Given the description of an element on the screen output the (x, y) to click on. 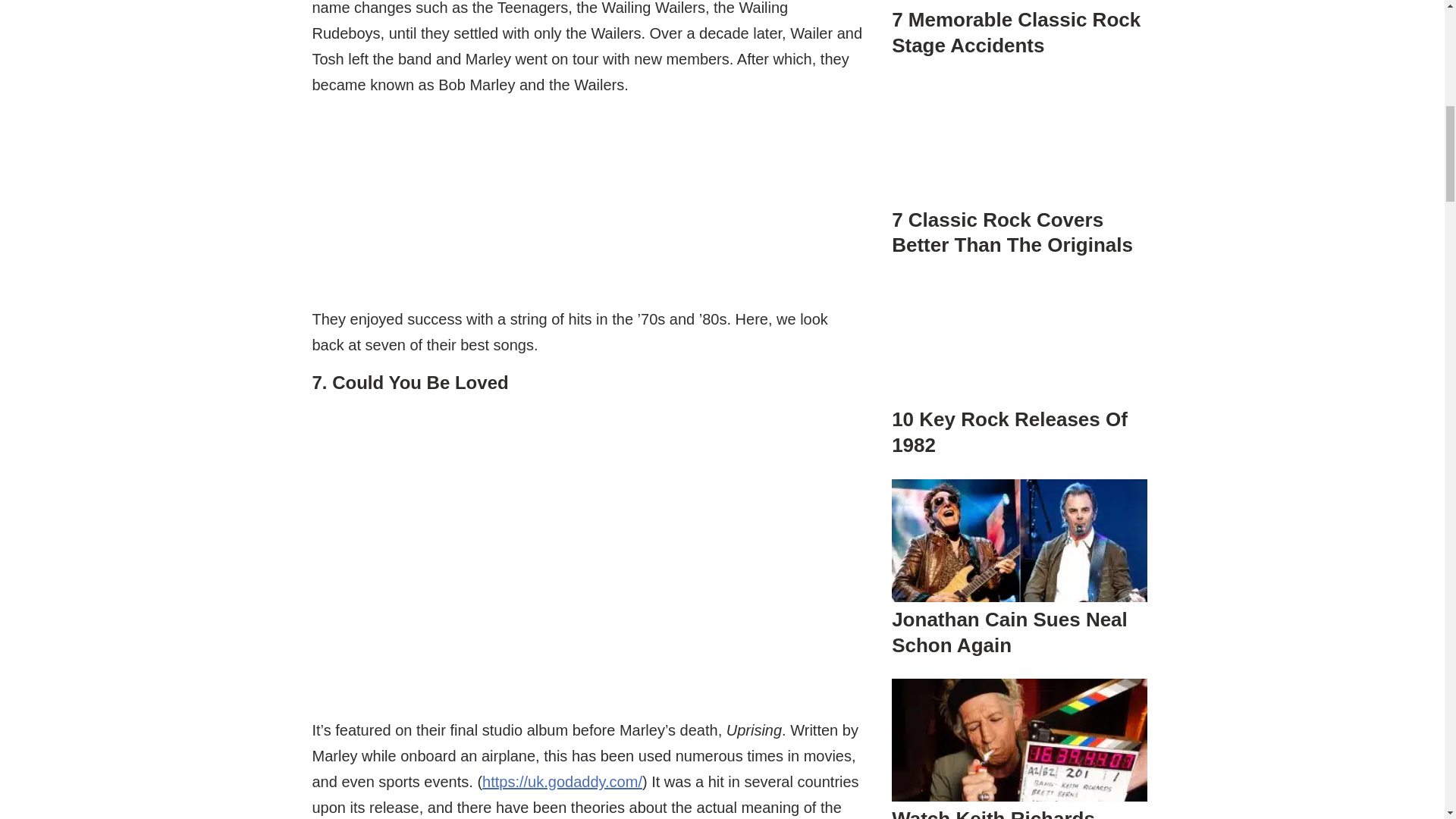
7 Classic Rock Covers Better Than the Originals (1019, 163)
7 Classic Rock Covers Better Than the Originals (1019, 140)
7 Memorable Classic Rock Stage Accidents (1015, 32)
7 Classic Rock Covers Better Than the Originals (1011, 232)
7 Memorable Classic Rock Stage Accidents (1019, 15)
